Given the description of an element on the screen output the (x, y) to click on. 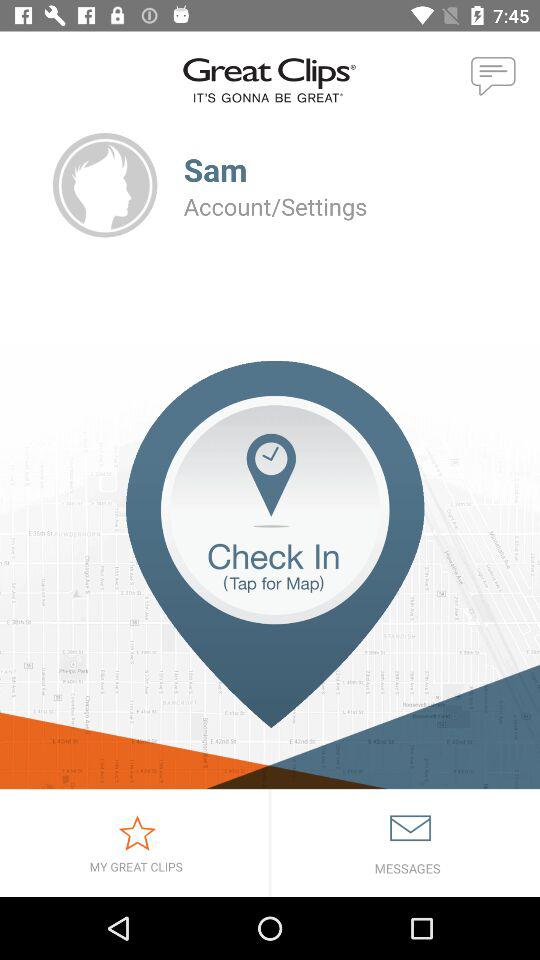
to send a message (494, 77)
